Given the description of an element on the screen output the (x, y) to click on. 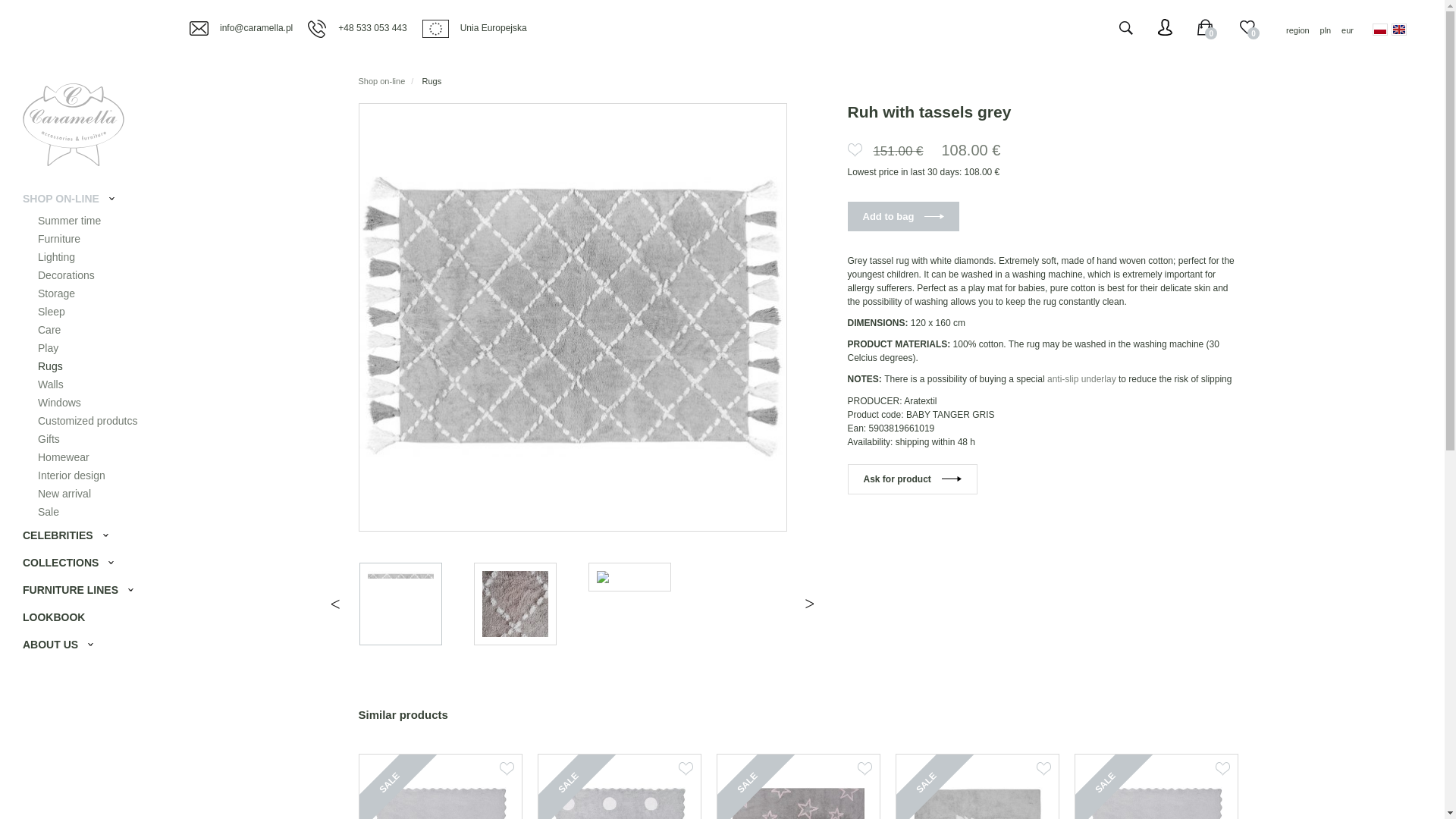
Dodaj do ulubionych (1042, 768)
Walls (84, 384)
Gifts (84, 439)
Dodaj do ulubionych (863, 768)
Play (84, 348)
Interior design (84, 475)
Rugs (84, 366)
Sleep (84, 312)
Customized produtcs (84, 421)
Sale (84, 512)
